Given the description of an element on the screen output the (x, y) to click on. 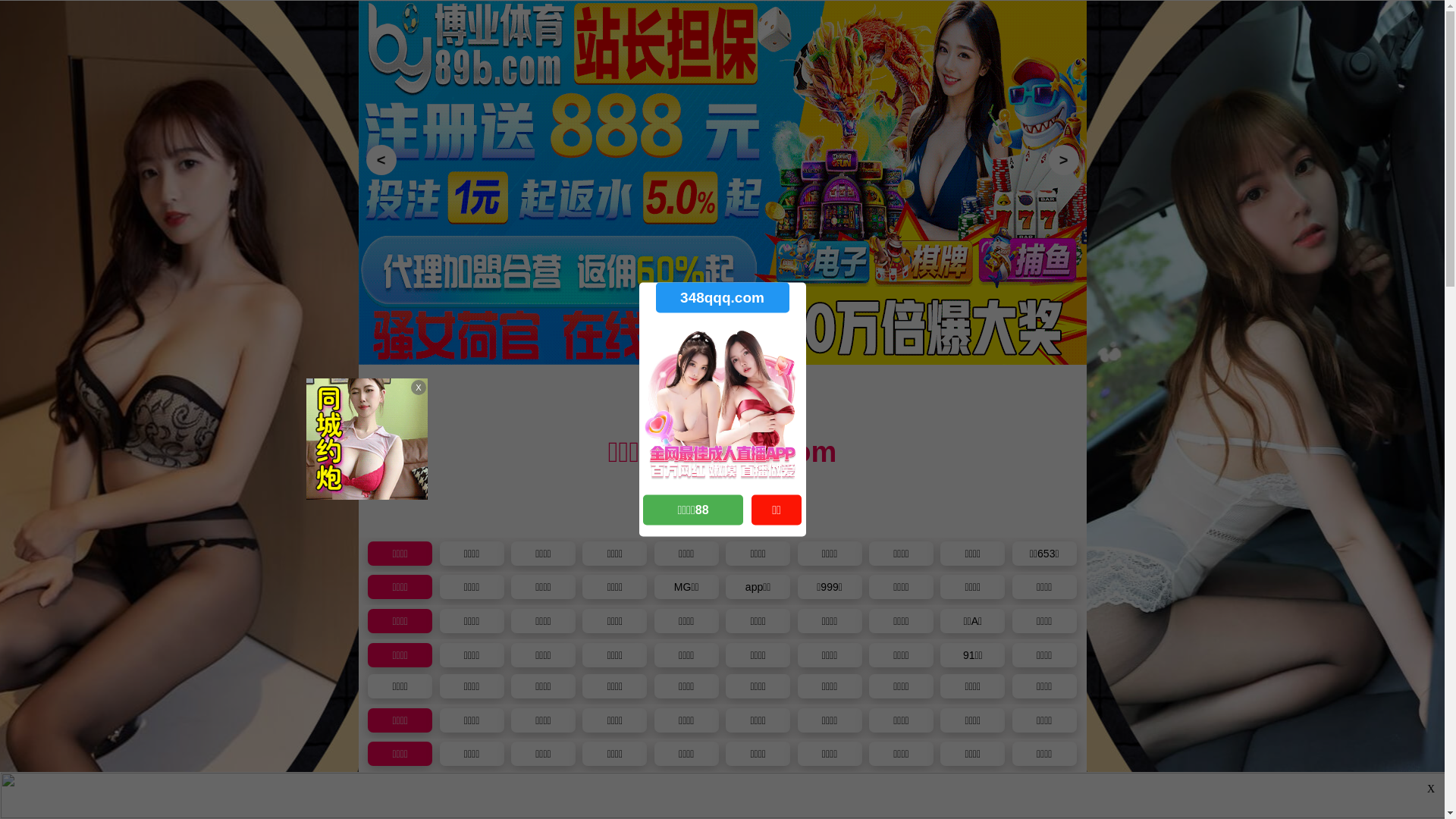
< Element type: text (380, 159)
> Element type: text (1063, 159)
X Element type: text (1430, 789)
348qqq.com Element type: text (721, 297)
